Given the description of an element on the screen output the (x, y) to click on. 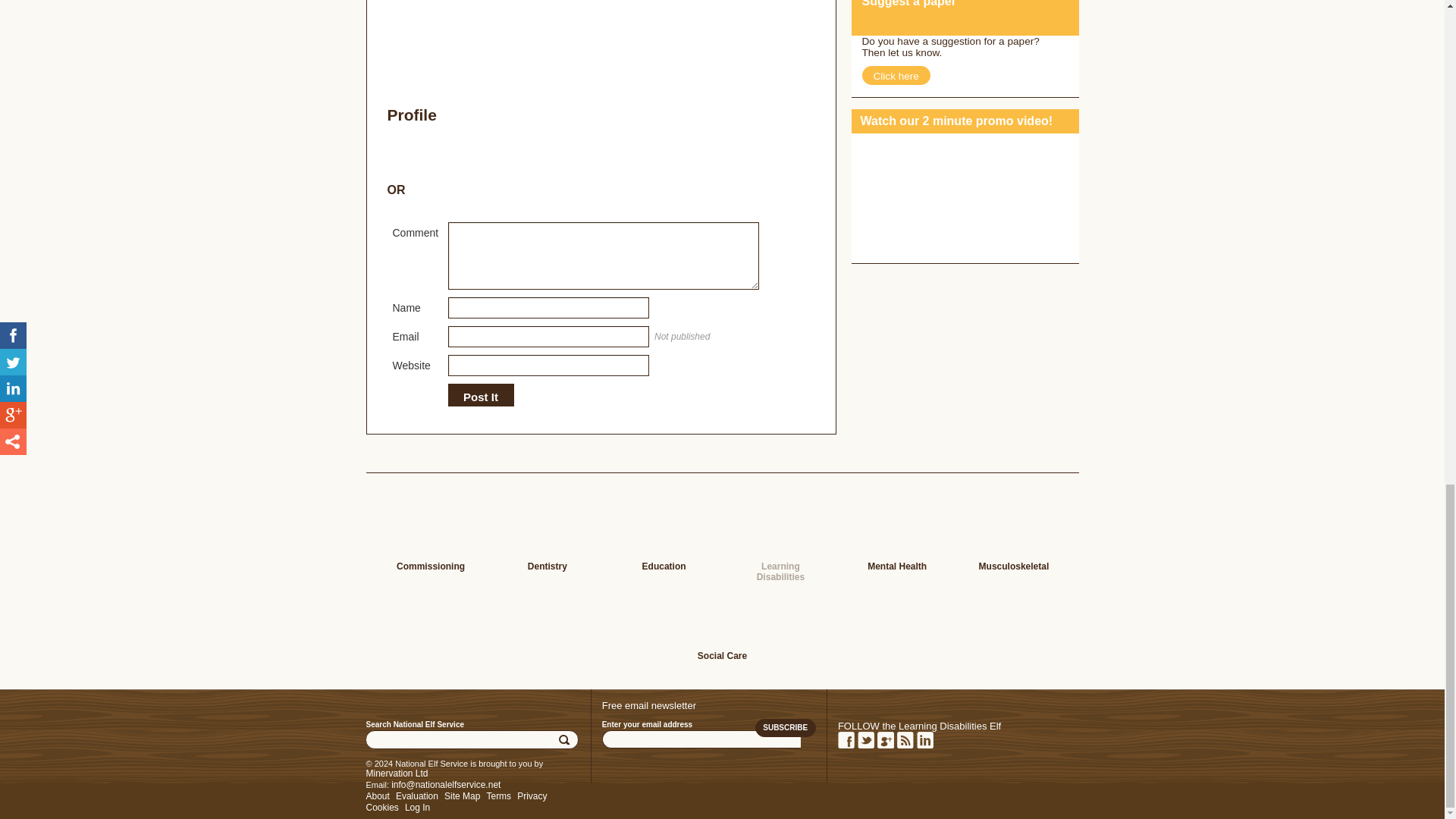
Subscribe (785, 728)
Post It (479, 397)
Search (565, 740)
